Given the description of an element on the screen output the (x, y) to click on. 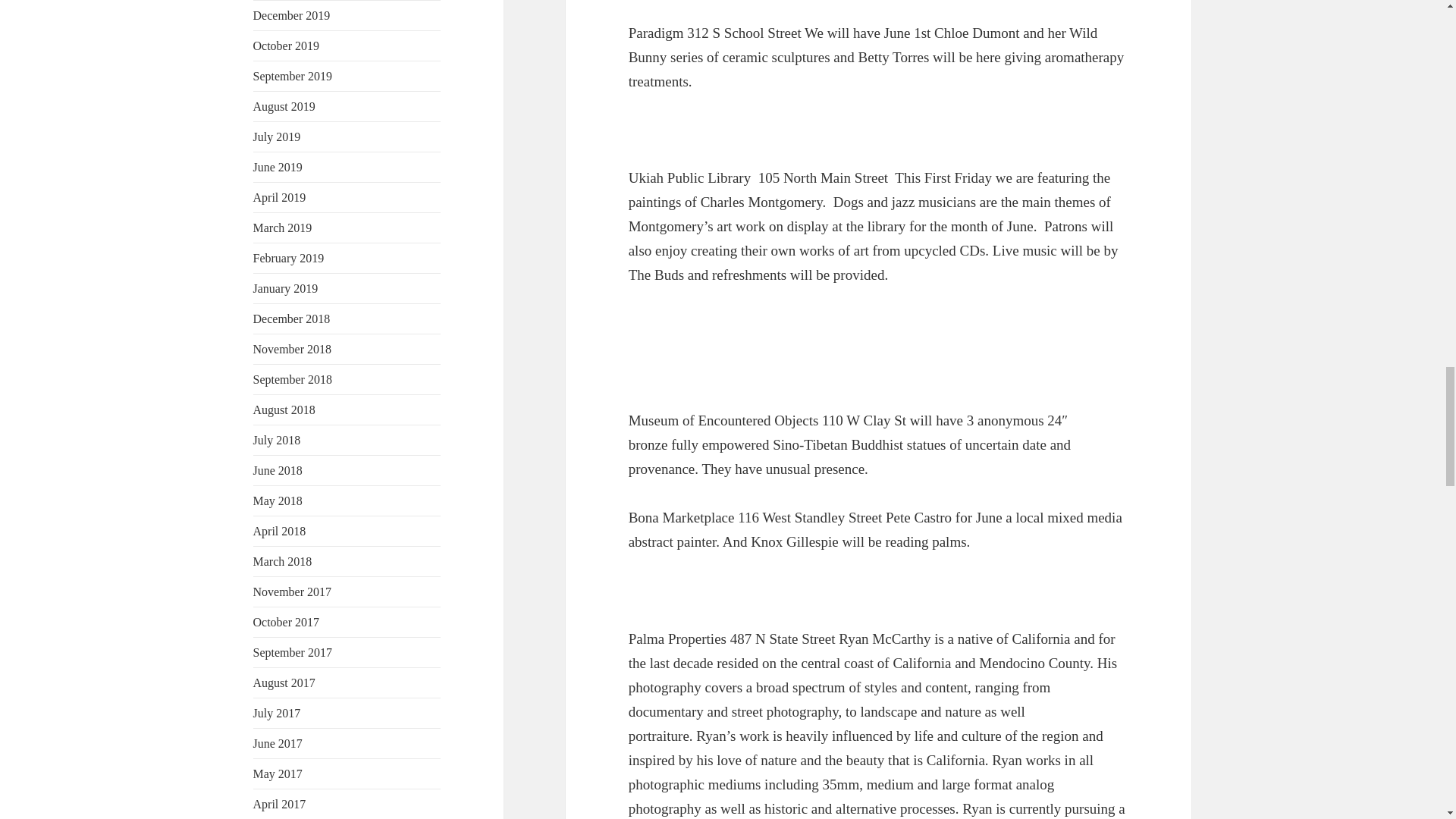
October 2019 (286, 45)
September 2019 (292, 75)
August 2019 (284, 106)
December 2019 (291, 15)
